Given the description of an element on the screen output the (x, y) to click on. 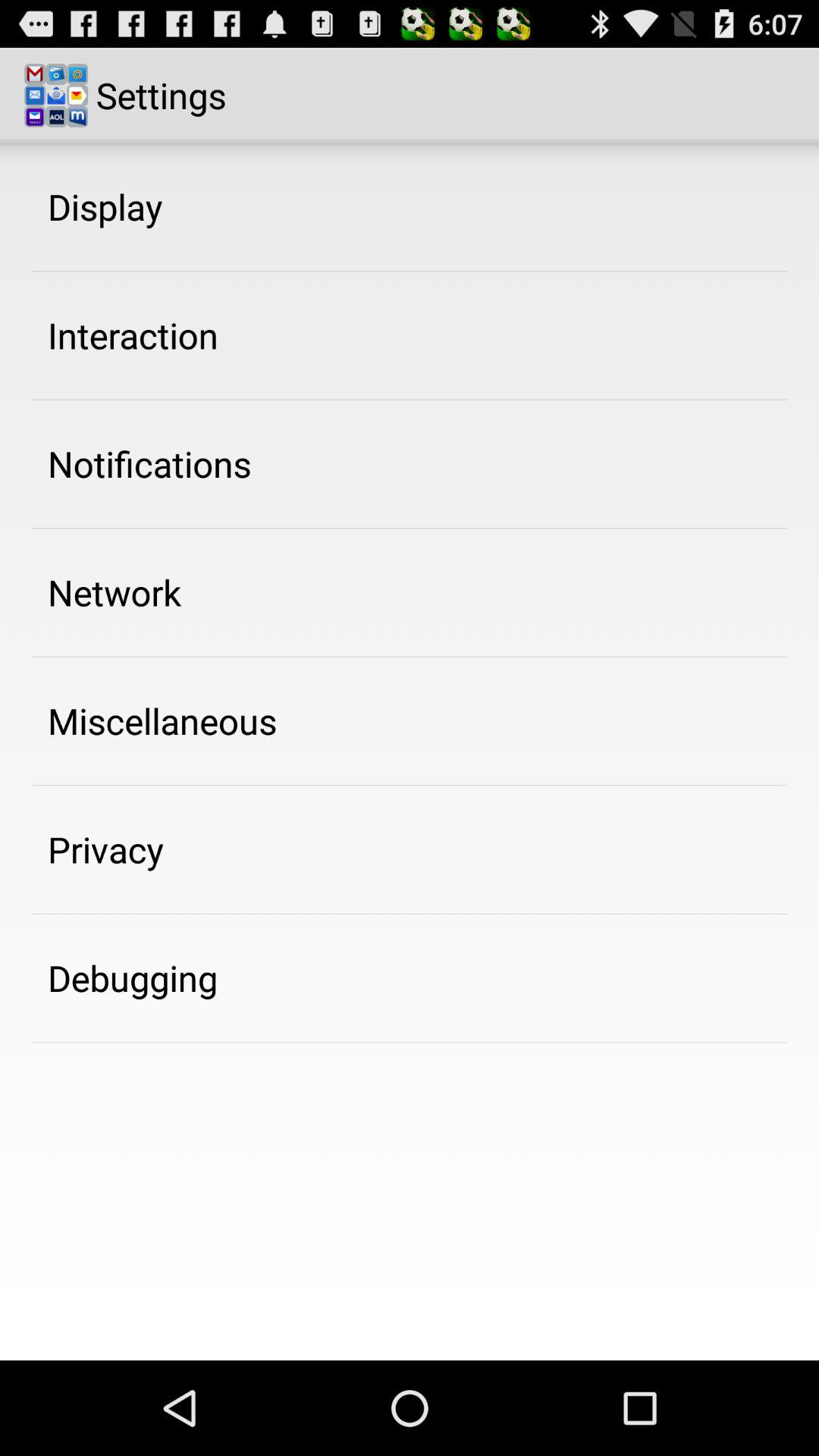
launch app above the notifications (132, 335)
